Given the description of an element on the screen output the (x, y) to click on. 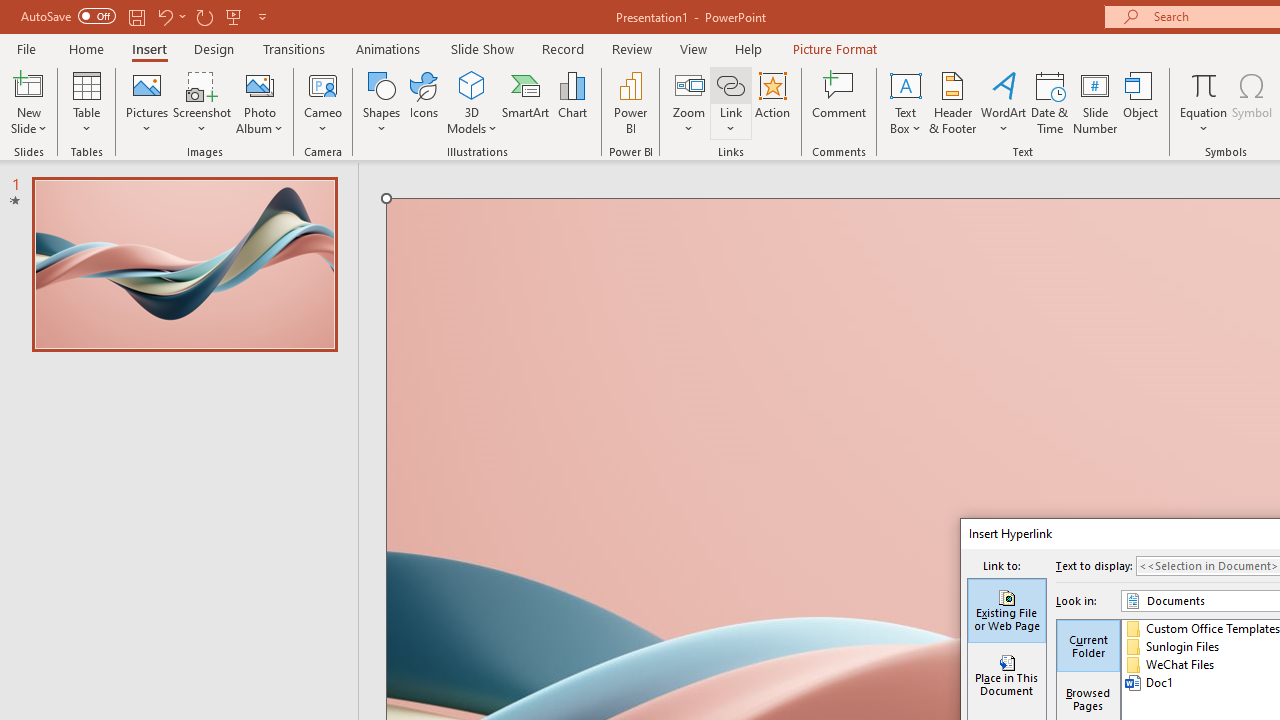
Photo Album... (259, 102)
Picture Format (834, 48)
Chart... (572, 102)
Screenshot (202, 102)
Place in This Document (1006, 676)
WordArt (1004, 102)
Date & Time... (1050, 102)
